Given the description of an element on the screen output the (x, y) to click on. 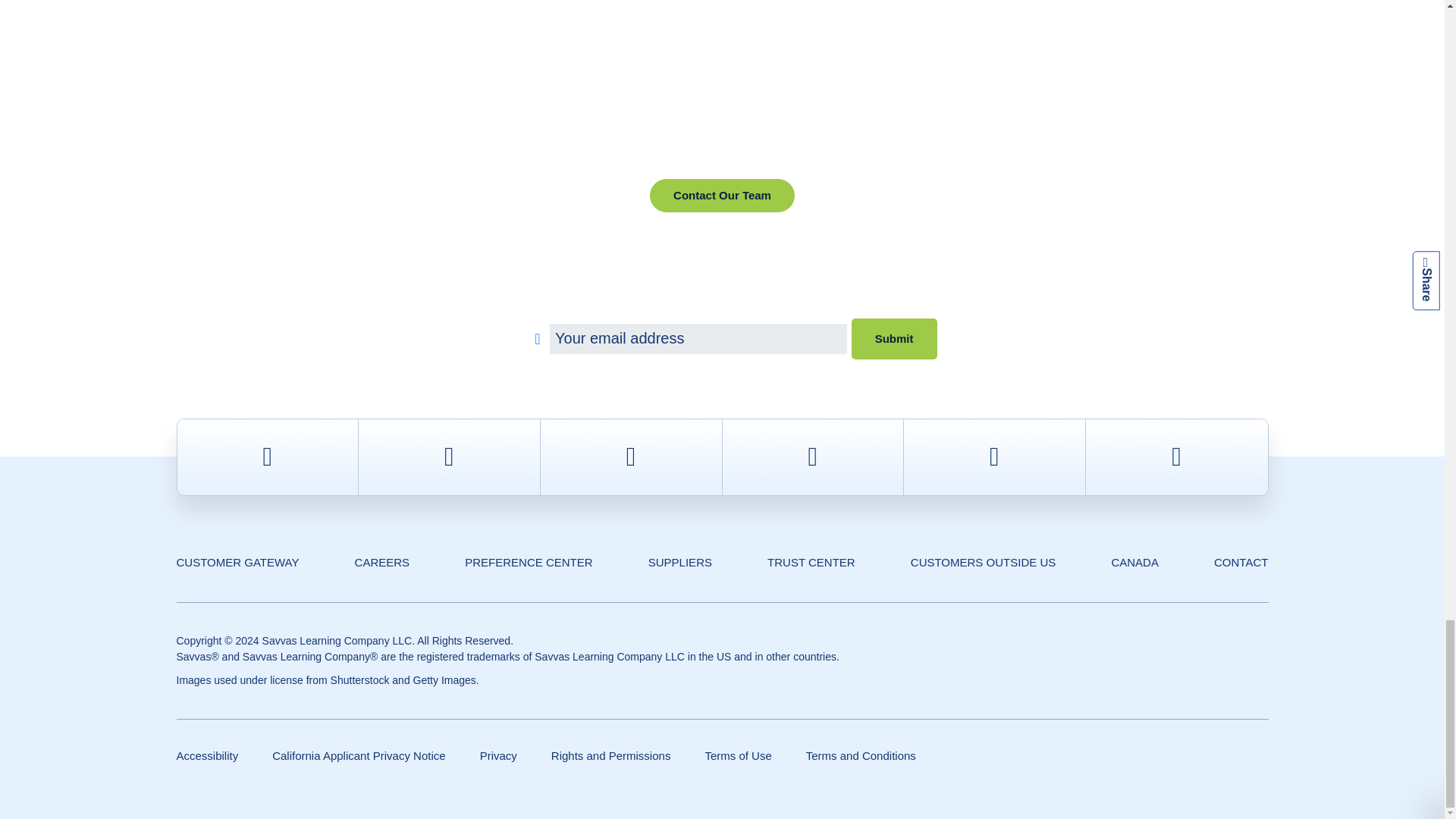
Suppliers (679, 562)
Preference Center (528, 562)
Trust Center (811, 562)
Careers (382, 562)
Customer Gateway (237, 562)
